Given the description of an element on the screen output the (x, y) to click on. 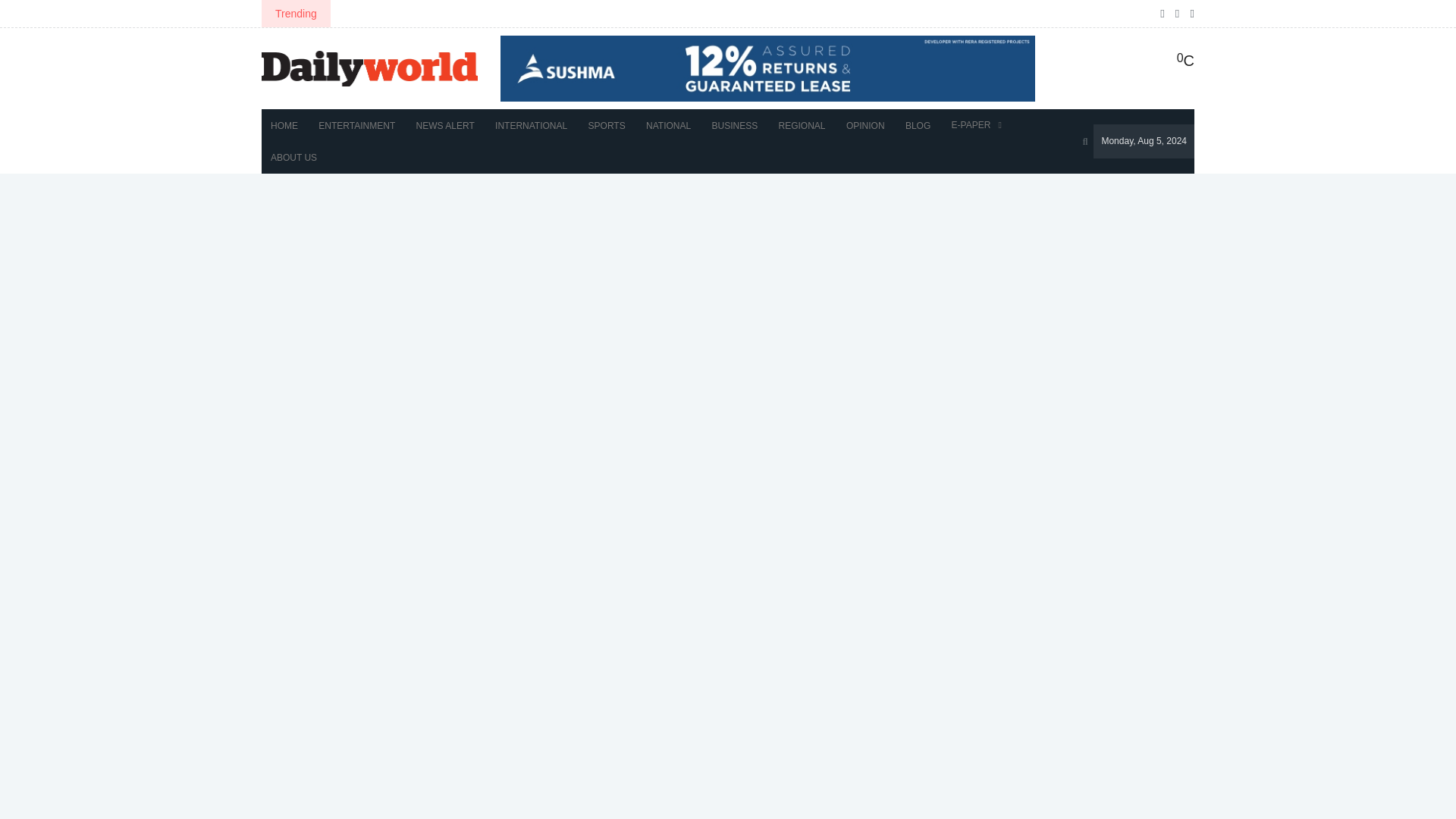
SPORTS (606, 125)
ABOUT US (294, 157)
REGIONAL (802, 125)
ENTERTAINMENT (356, 125)
INTERNATIONAL (531, 125)
HOME (284, 125)
E-PAPER (976, 124)
BLOG (917, 125)
NEWS ALERT (445, 125)
BUSINESS (734, 125)
